Given the description of an element on the screen output the (x, y) to click on. 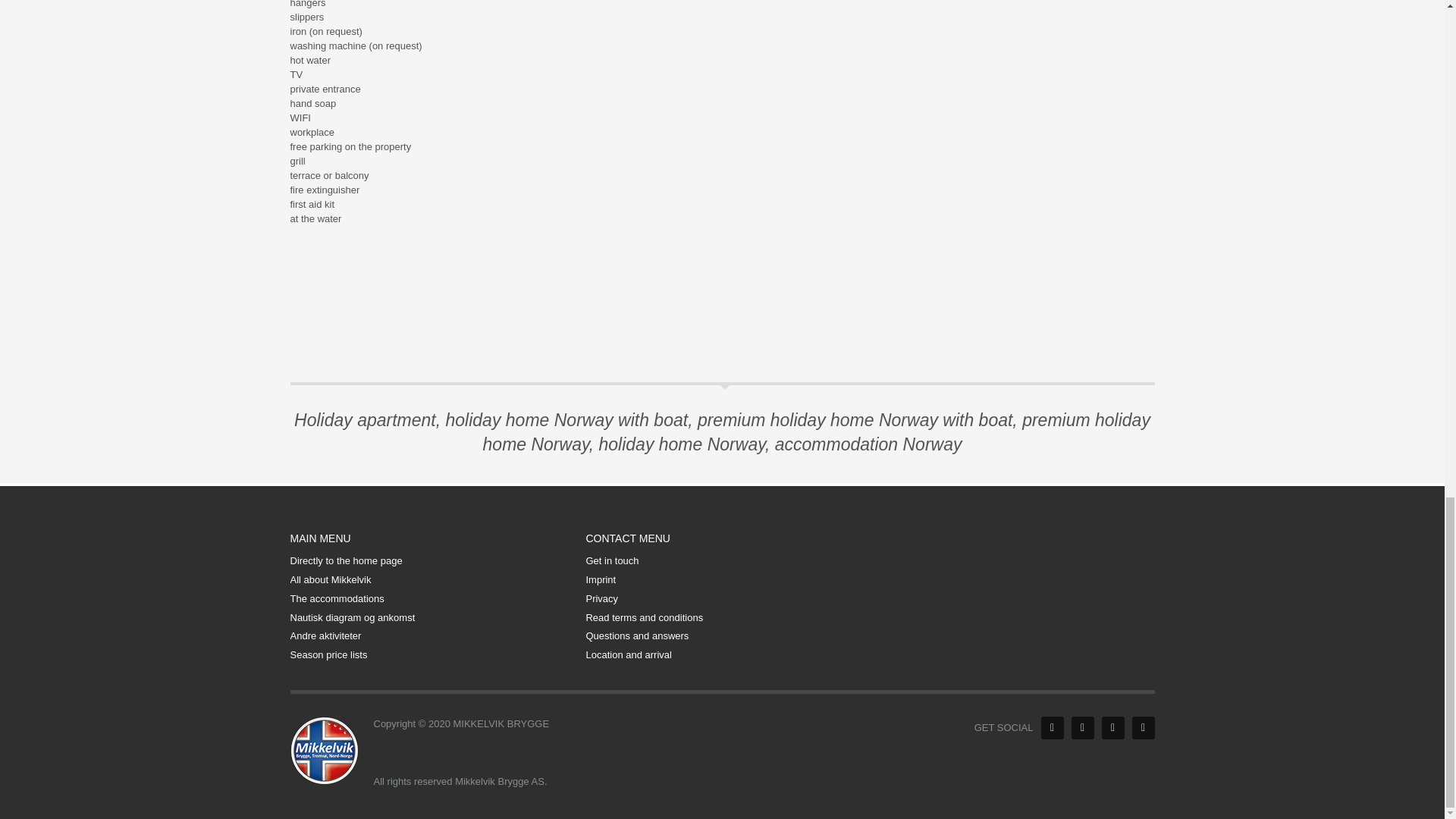
Directly to the home page (425, 561)
Unsere Videos auf YouTube verfolgen (1112, 727)
Follow Instagram (1142, 727)
All about Mikkelvik (425, 580)
LIKE uns auf Facebook (1051, 727)
The accommodations (425, 599)
